Given the description of an element on the screen output the (x, y) to click on. 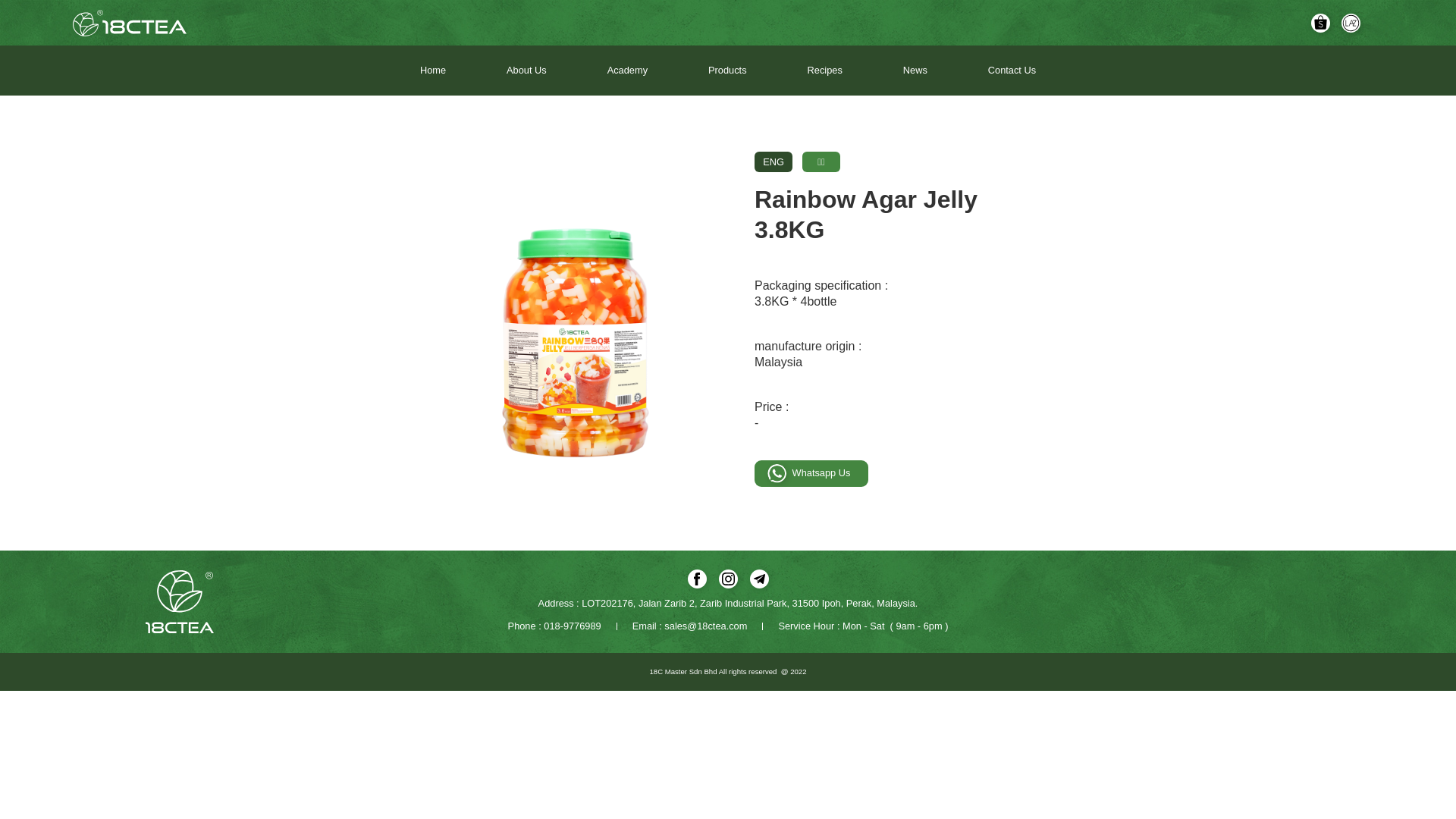
News Element type: text (914, 70)
Home Element type: text (432, 70)
About Us Element type: text (526, 70)
Email : sales@18ctea.com Element type: text (689, 625)
Academy Element type: text (627, 70)
Phone : 018-9776989 Element type: text (554, 625)
Whatsapp Us Element type: text (811, 472)
Products Element type: text (727, 70)
Recipes Element type: text (824, 70)
Contact Us Element type: text (1011, 70)
